Given the description of an element on the screen output the (x, y) to click on. 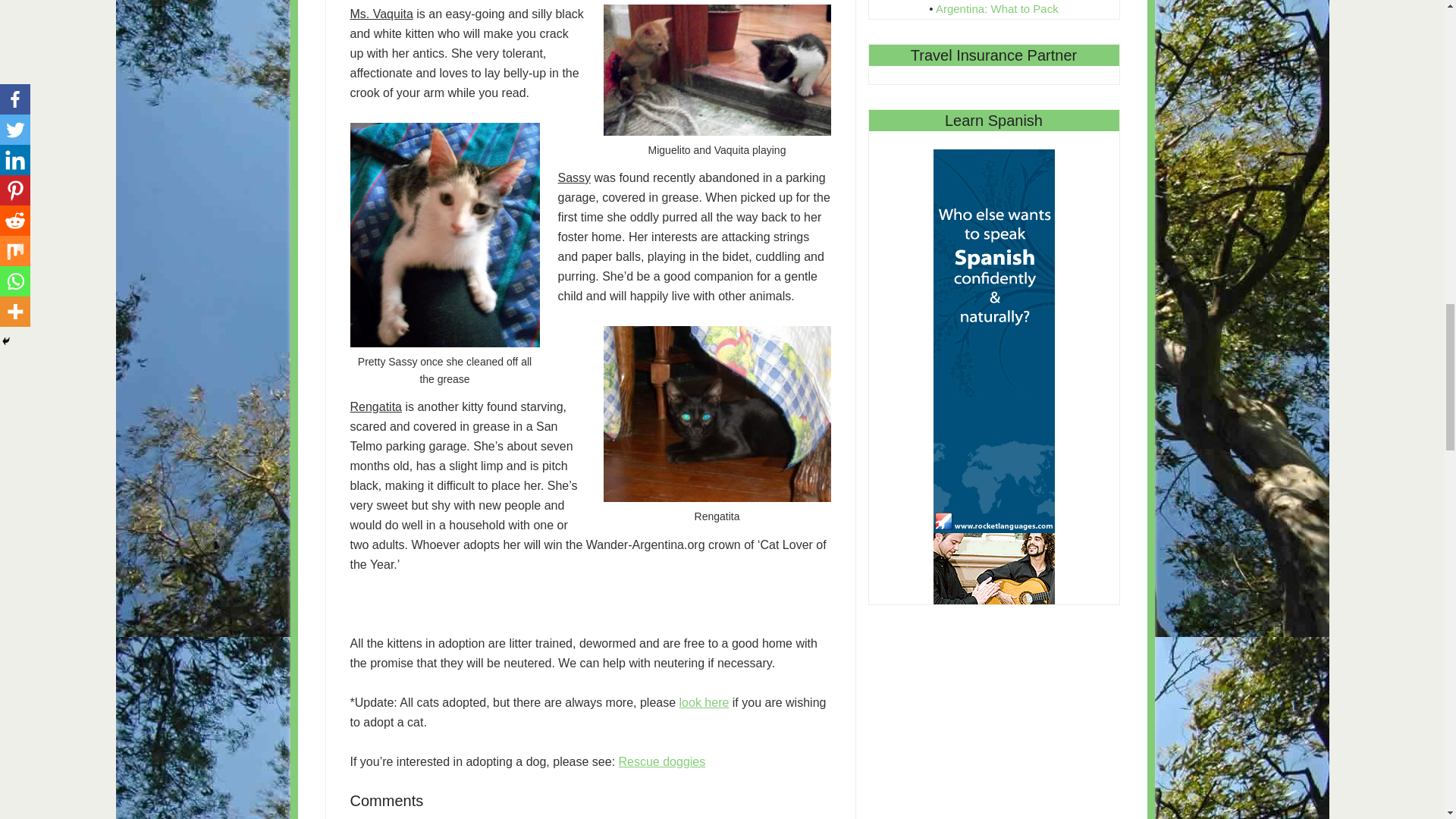
Rescue doggies (662, 761)
look here (704, 702)
WAO-animales-kittens (717, 69)
WAO-catstoadopt-blackrenga (717, 413)
